Given the description of an element on the screen output the (x, y) to click on. 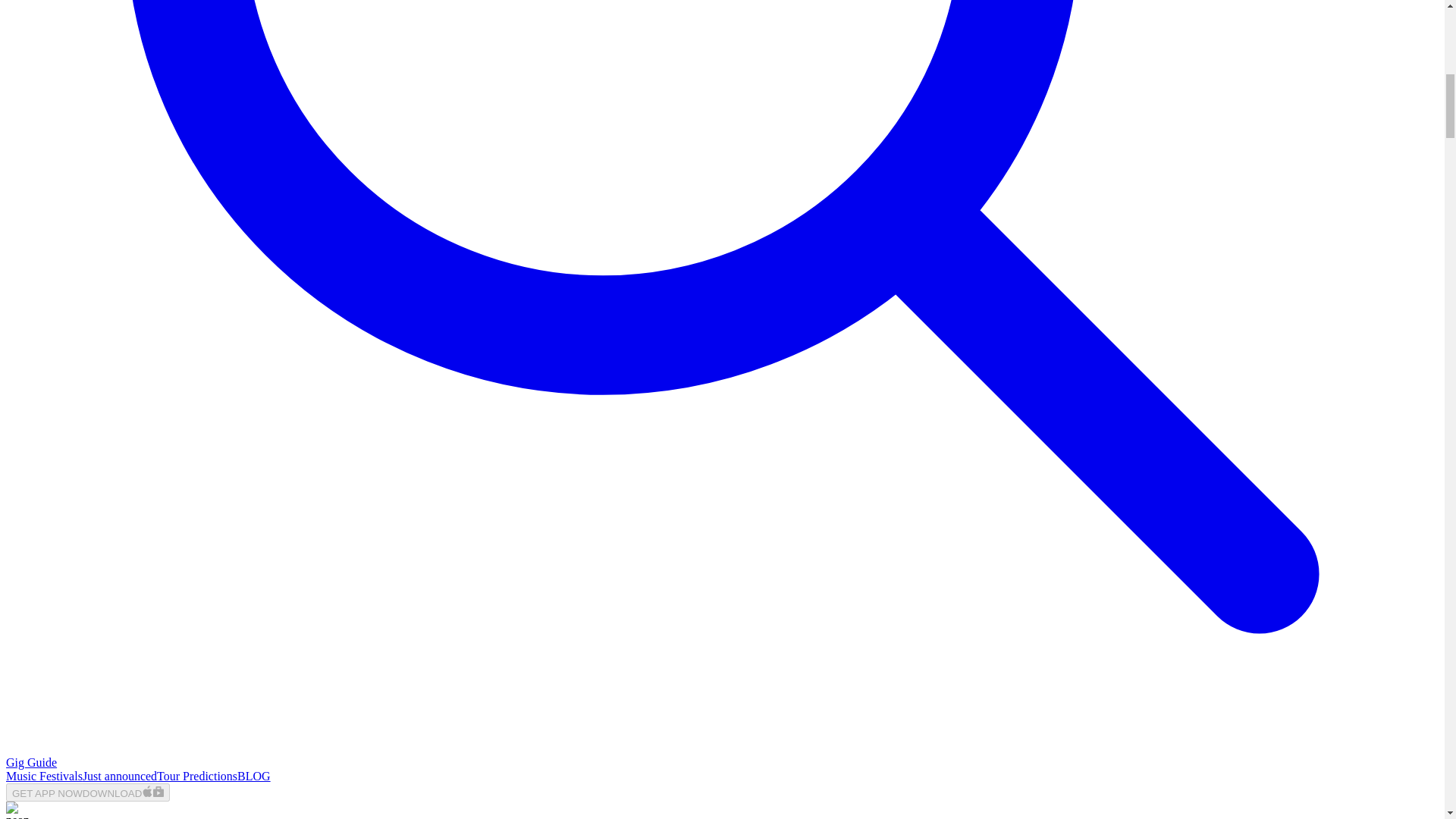
Tour Predictions (197, 775)
GET APP NOWDOWNLOAD (87, 791)
Music Festivals (43, 775)
Just announced (119, 775)
BLOG (253, 775)
Gig Guide (30, 762)
